Given the description of an element on the screen output the (x, y) to click on. 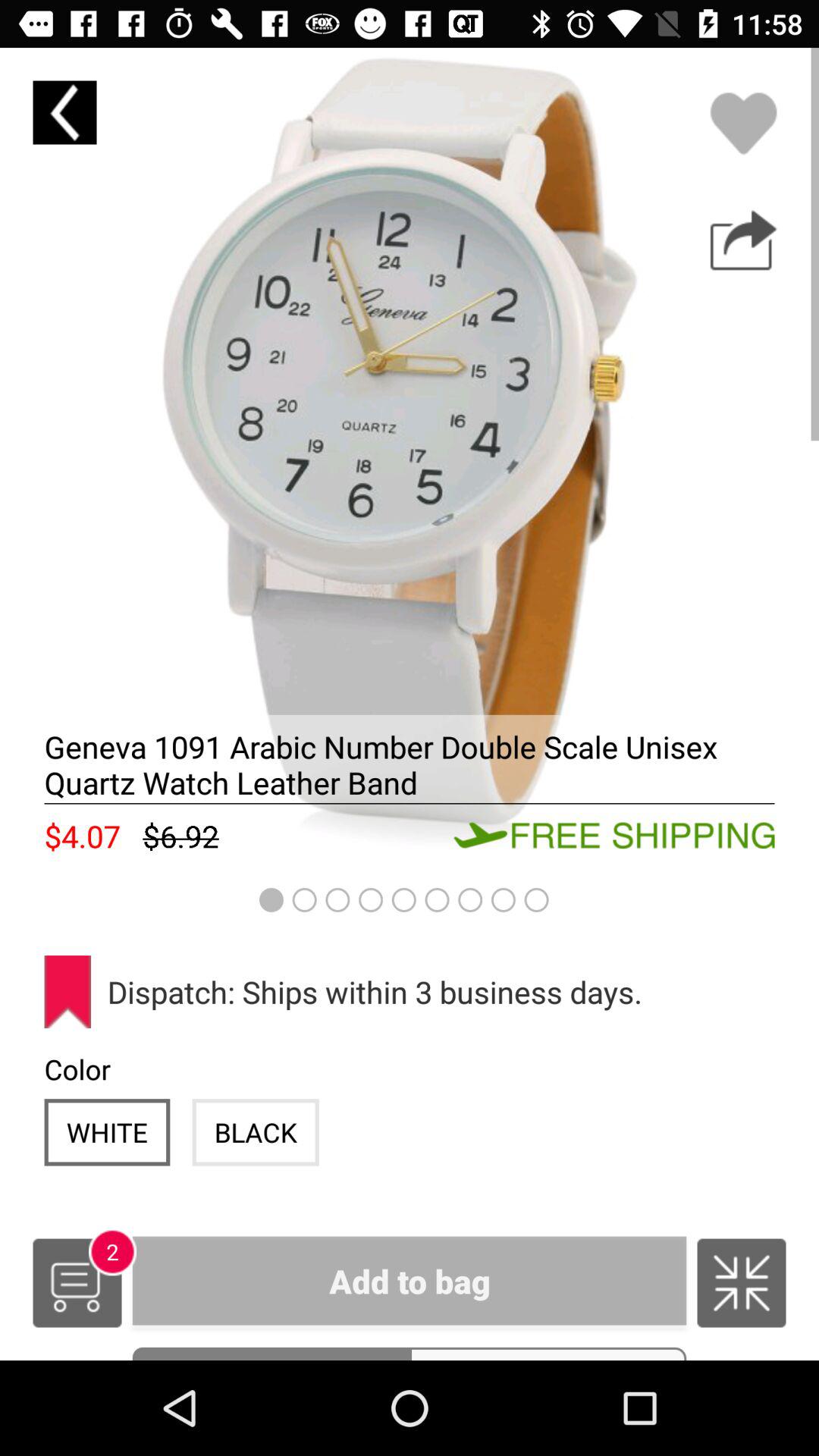
choose icon next to the black icon (107, 1131)
